Given the description of an element on the screen output the (x, y) to click on. 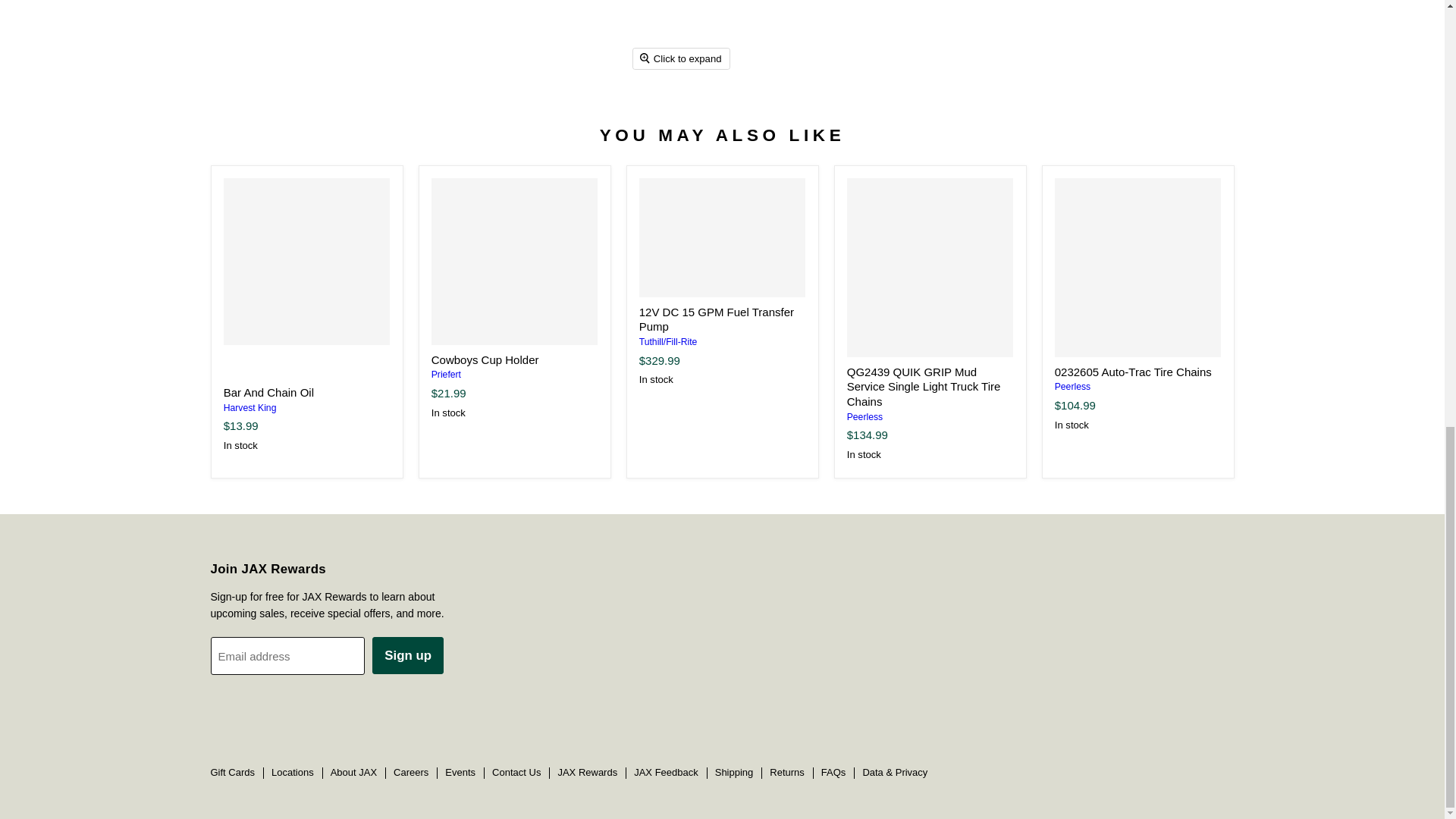
Peerless (1072, 386)
Bar And Chain Oil (307, 261)
Cowboys Cup Holder (484, 359)
Harvest King (250, 407)
Priefert (445, 374)
Peerless (864, 416)
Harvest King (250, 407)
Bar And Chain Oil (269, 391)
Priefert (445, 374)
Click to expand (681, 58)
